Given the description of an element on the screen output the (x, y) to click on. 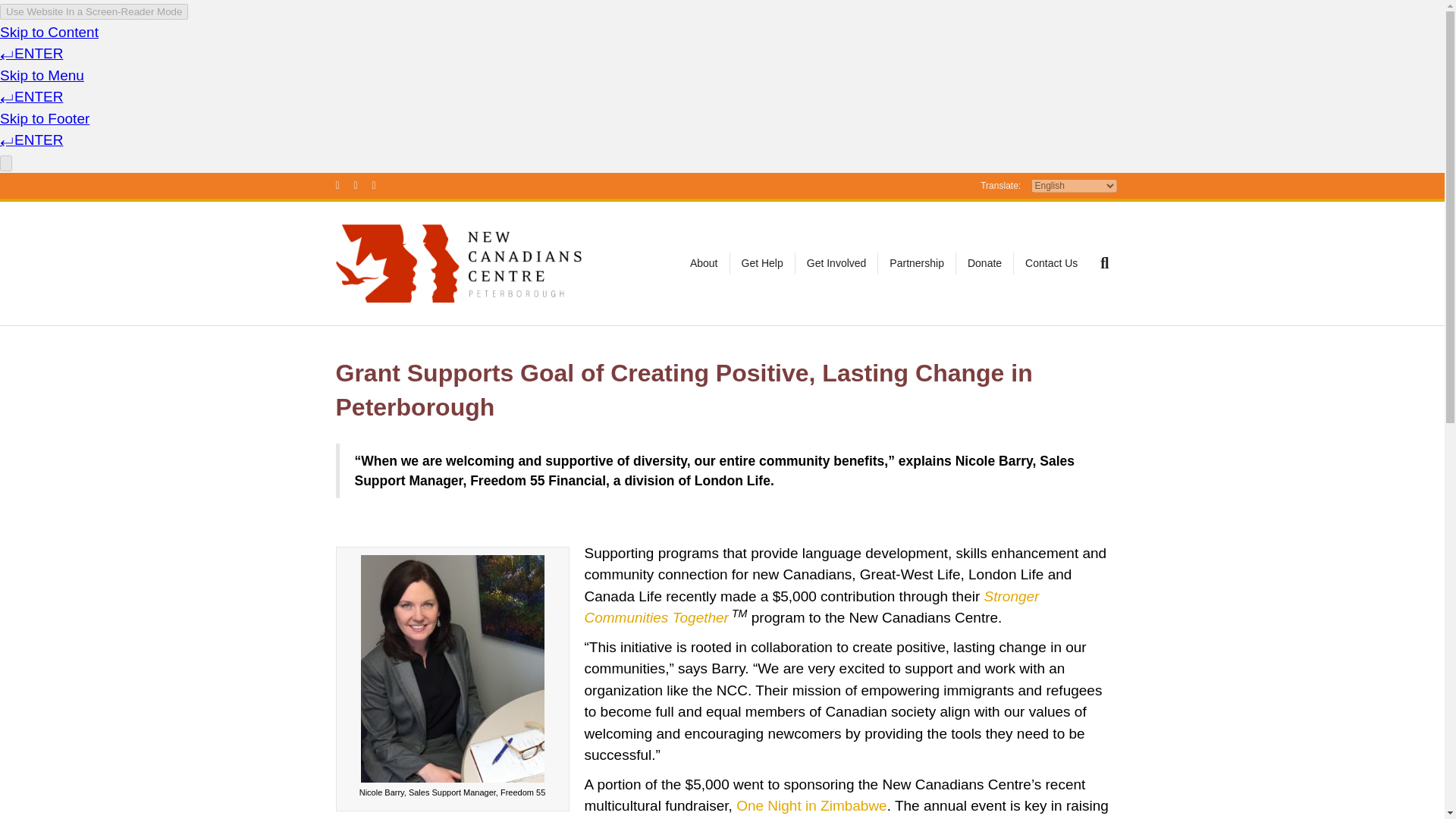
Youtube (362, 184)
Instagram (380, 184)
Facebook (343, 184)
Translate: (999, 185)
Get Involved (836, 263)
Partnership (916, 263)
Donate (984, 263)
About (704, 263)
Stronger Communities Together (811, 607)
Get Help (761, 263)
Contact Us (1051, 263)
